Given the description of an element on the screen output the (x, y) to click on. 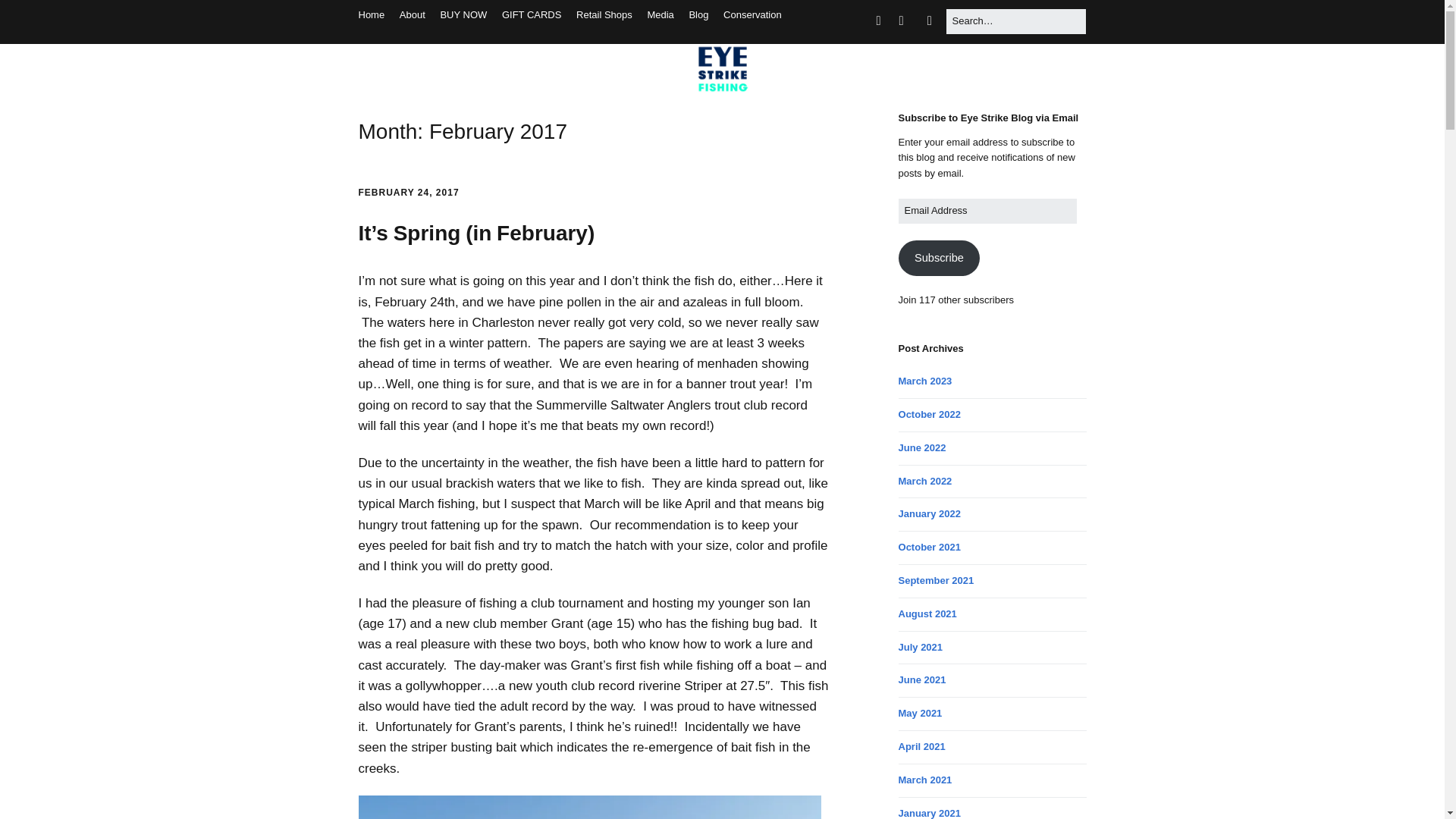
August 2021 (927, 613)
October 2021 (929, 546)
Search (29, 16)
March 2023 (925, 380)
FEBRUARY 24, 2017 (408, 192)
Home (371, 14)
April 2021 (921, 746)
January 2022 (929, 513)
May 2021 (920, 713)
About (411, 14)
